Given the description of an element on the screen output the (x, y) to click on. 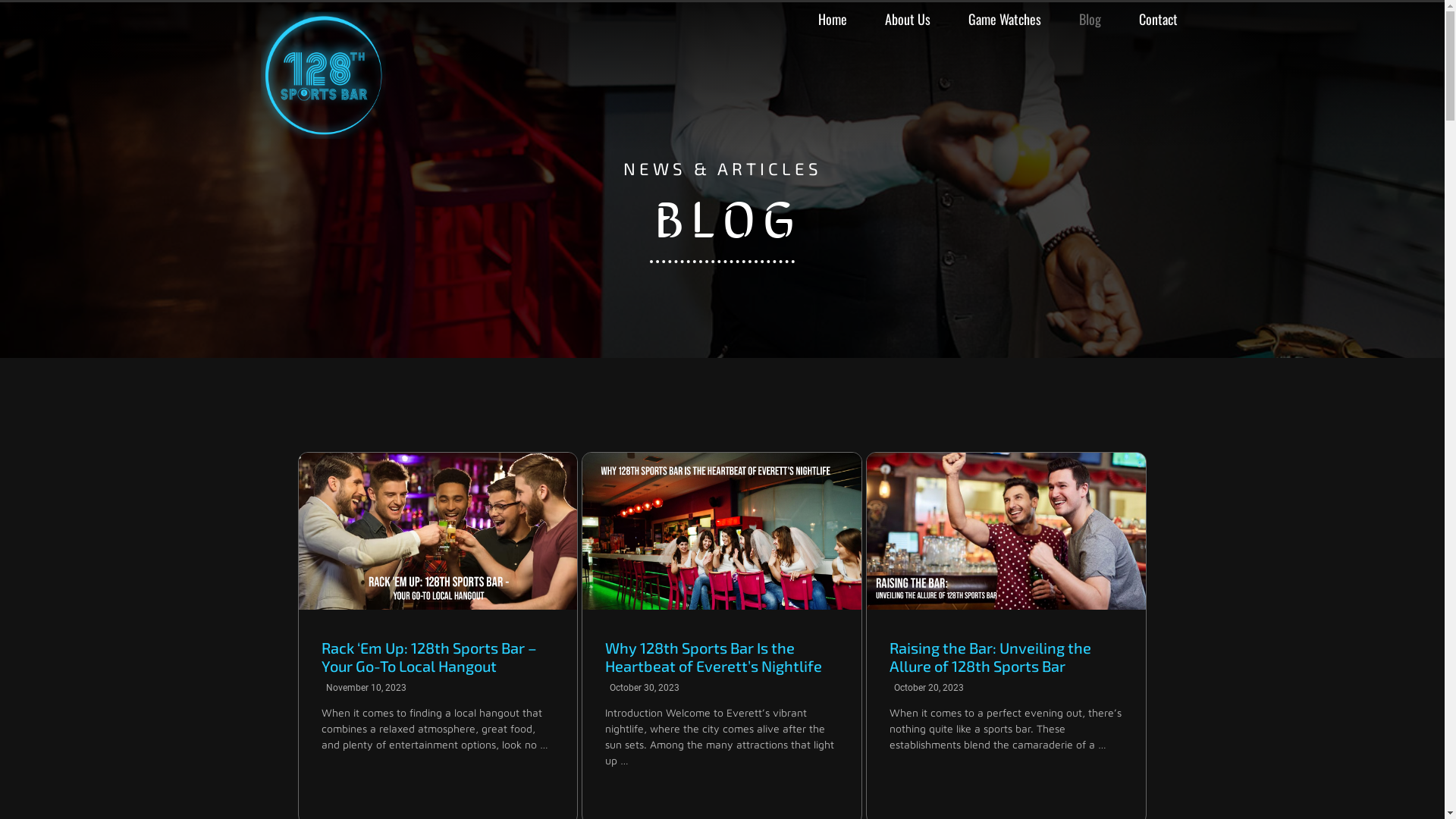
About Us Element type: text (899, 18)
Raising the Bar: Unveiling the Allure of 128th Sports Bar Element type: text (990, 656)
Game Watches Element type: text (996, 18)
Contact Element type: text (1149, 18)
Blog Element type: text (1082, 18)
Home Element type: text (824, 18)
